Given the description of an element on the screen output the (x, y) to click on. 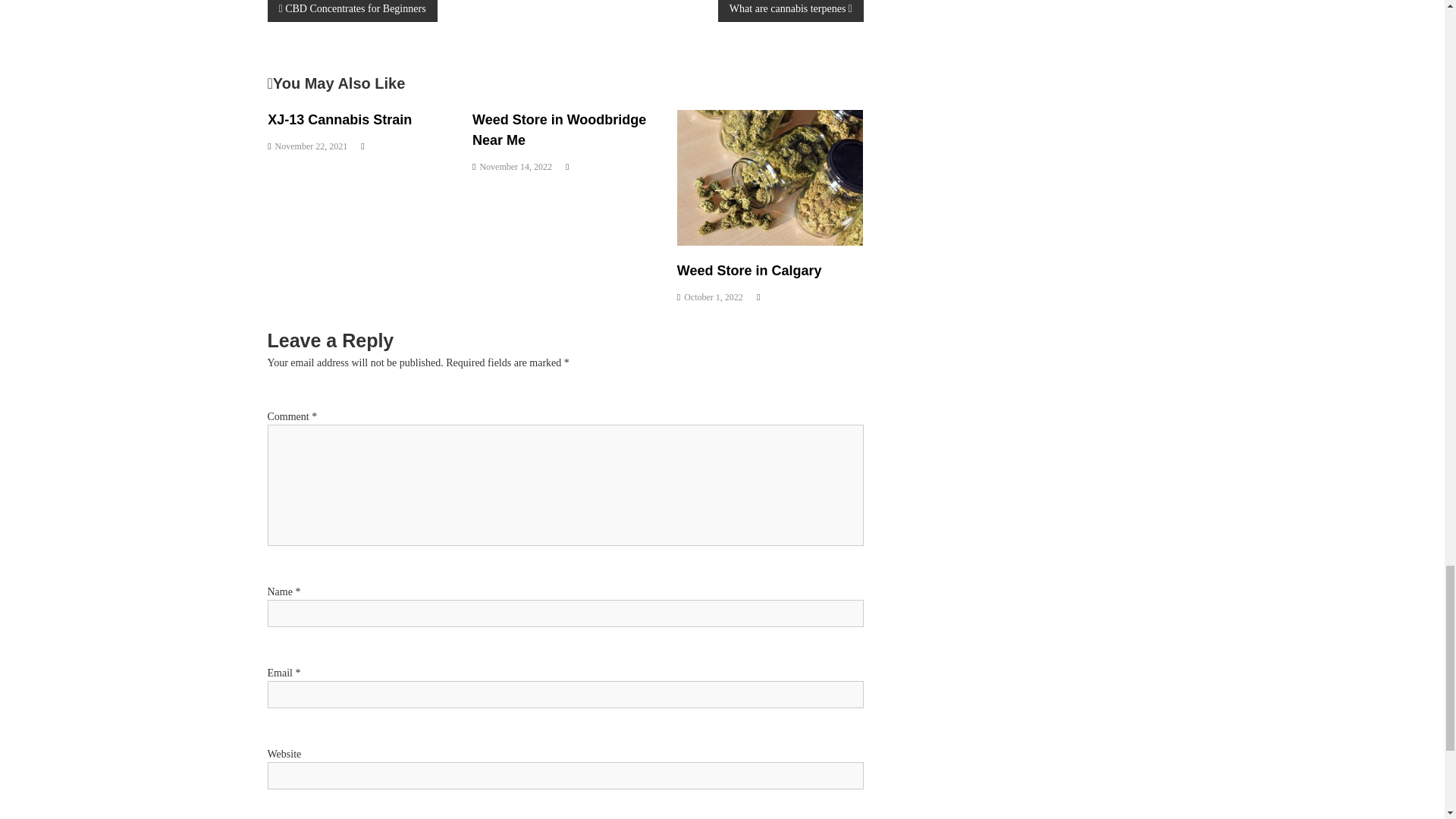
XJ-13 Cannabis Strain (339, 119)
Weed Store in Calgary (749, 270)
October 1, 2022 (713, 296)
XJ-13 Cannabis Strain (339, 119)
Weed Store in Calgary (770, 175)
Weed Store in Woodbridge Near Me (558, 130)
Weed Store in Calgary (749, 270)
November 14, 2022 (515, 165)
What are cannabis terpenes (790, 10)
CBD Concentrates for Beginners (351, 10)
